Given the description of an element on the screen output the (x, y) to click on. 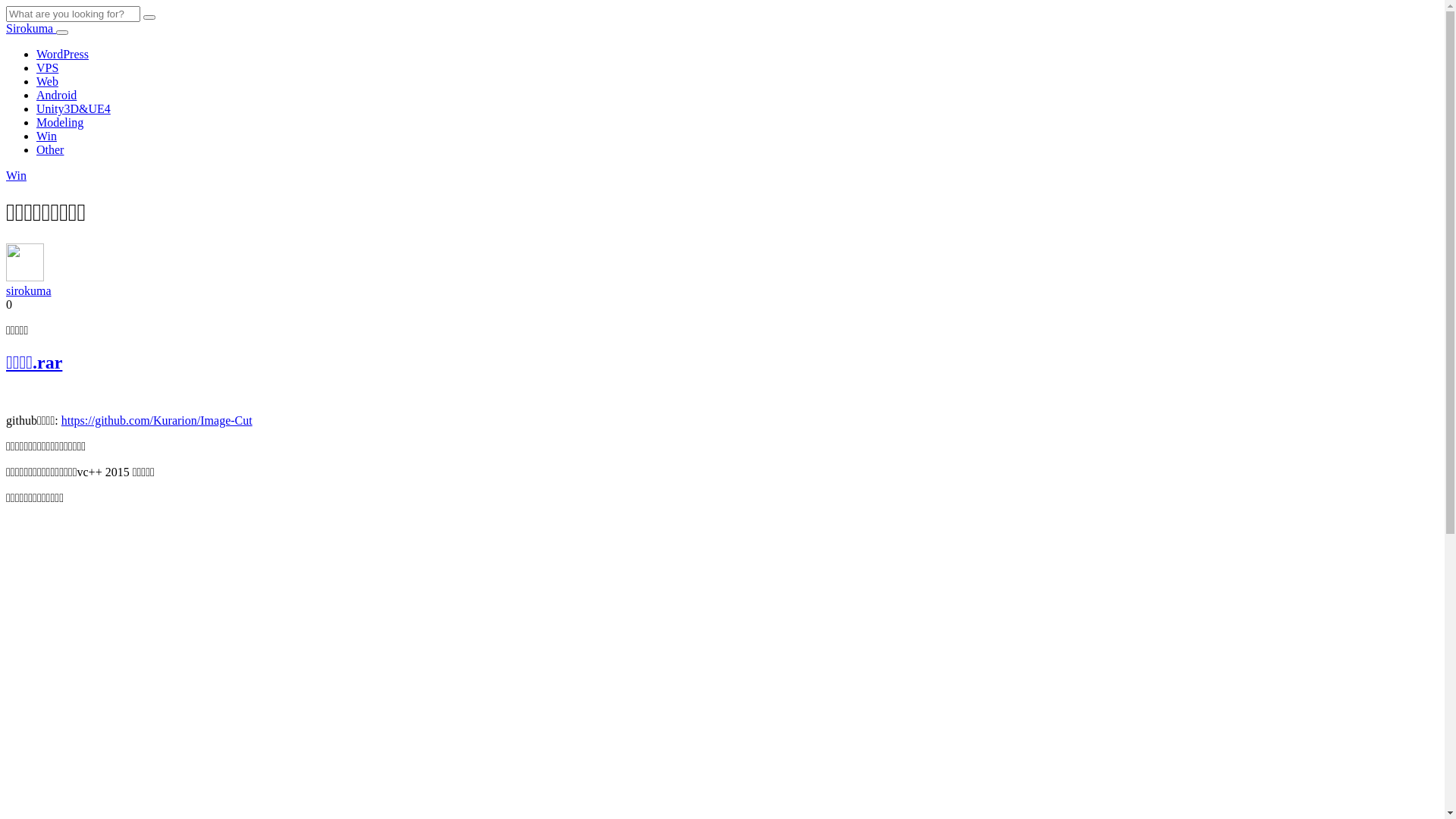
VPS Element type: text (47, 67)
https://github.com/Kurarion/Image-Cut Element type: text (156, 420)
Other Element type: text (49, 149)
Win Element type: text (16, 175)
WordPress Element type: text (62, 53)
Android Element type: text (56, 94)
Web Element type: text (47, 81)
Unity3D&UE4 Element type: text (73, 108)
sirokuma Element type: text (28, 290)
Sirokuma Element type: text (31, 27)
Win Element type: text (46, 135)
Modeling Element type: text (59, 122)
